Given the description of an element on the screen output the (x, y) to click on. 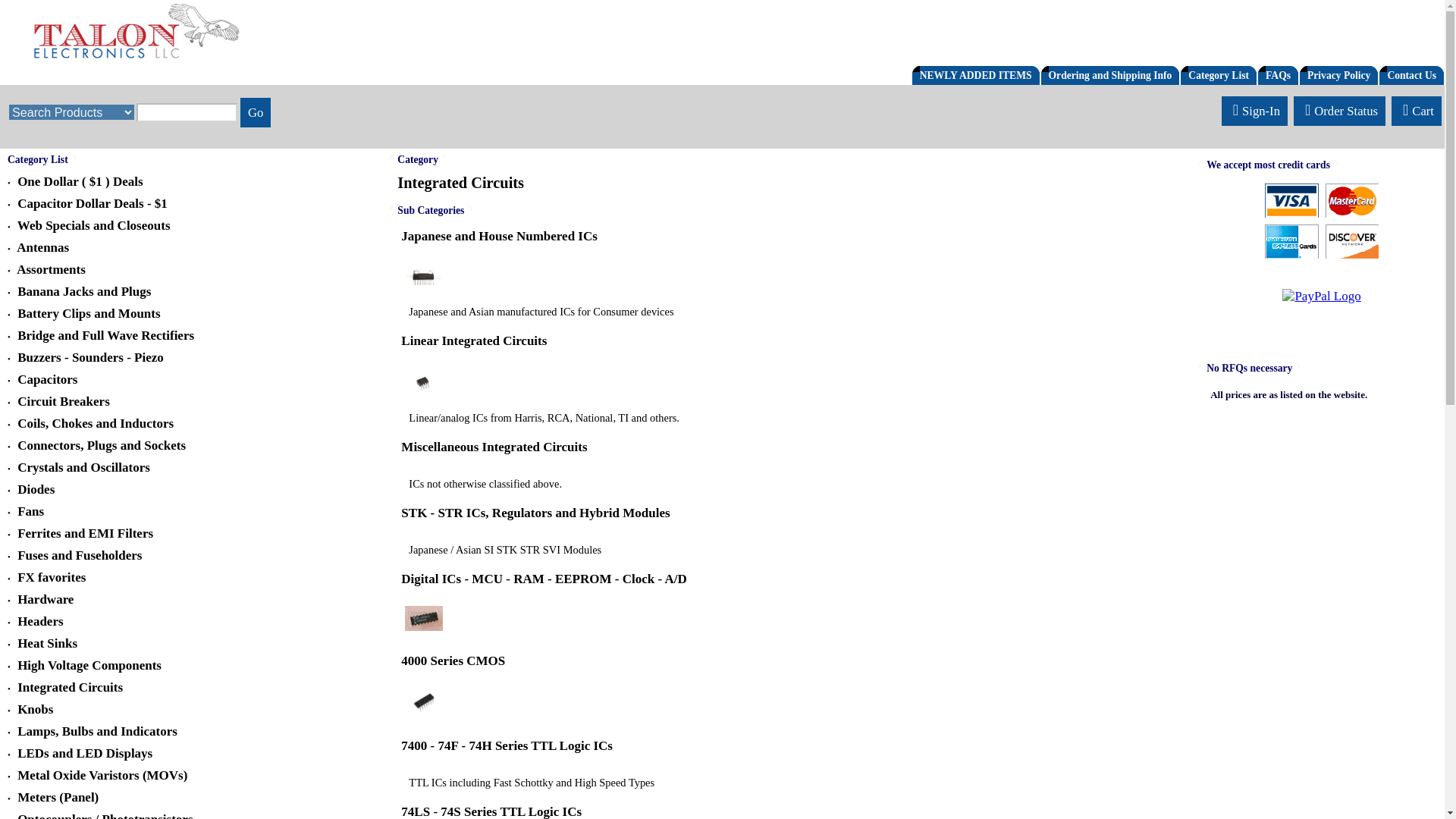
Heat Sinks (47, 643)
Cart (1416, 111)
Diodes (36, 489)
Hardware (45, 599)
Web Specials and Closeouts (93, 225)
Crystals and Oscillators (83, 467)
Lamps, Bulbs and Indicators (97, 730)
Buzzers - Sounders - Piezo (90, 357)
Ferrites and EMI Filters (84, 533)
Headers (39, 621)
